Given the description of an element on the screen output the (x, y) to click on. 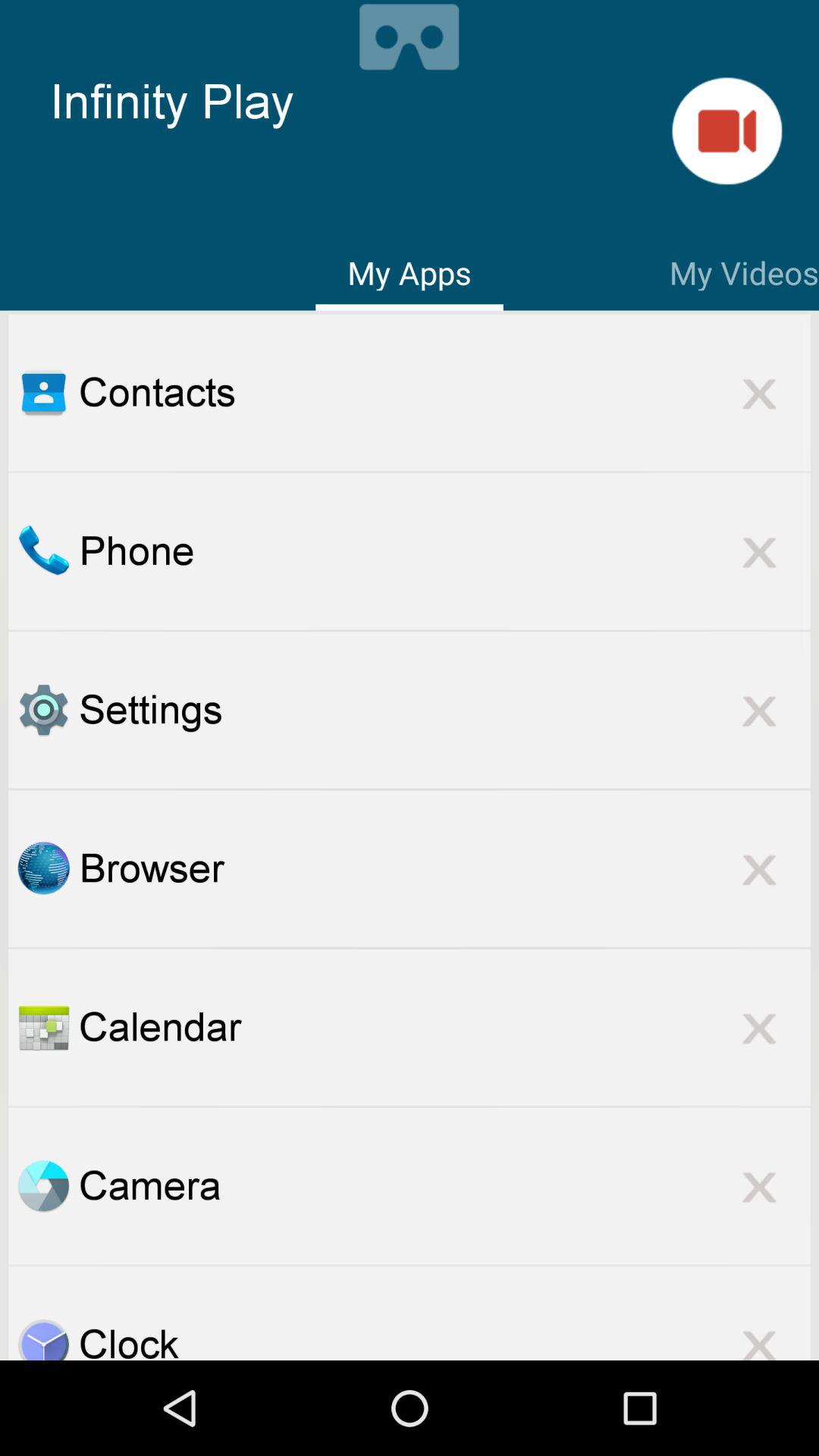
click the settings icon (444, 709)
